Given the description of an element on the screen output the (x, y) to click on. 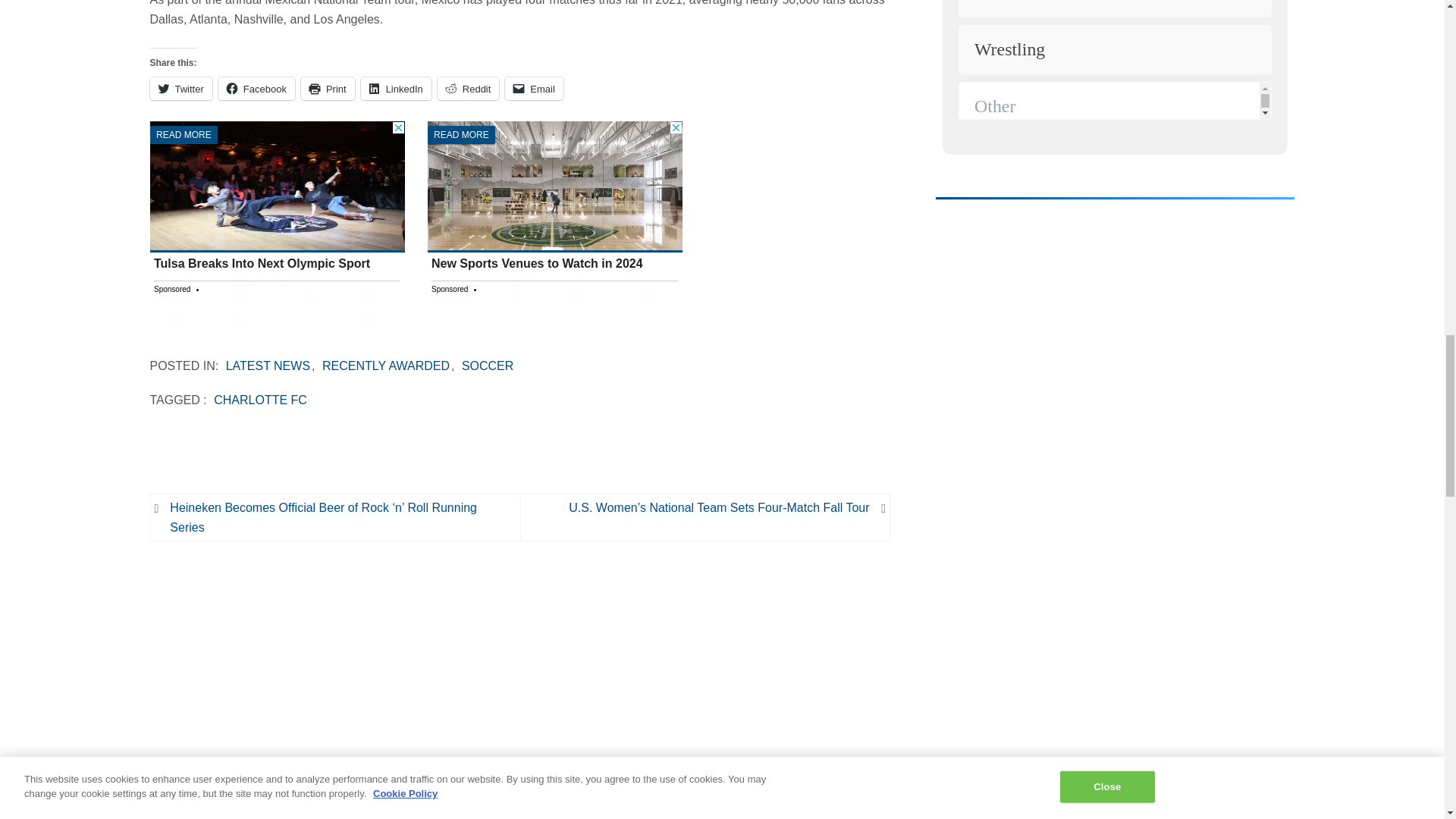
Click to share on LinkedIn (395, 87)
Click to email a link to a friend (534, 87)
3rd party ad content (276, 227)
Click to share on Twitter (180, 87)
3rd party ad content (1049, 753)
Click to share on Reddit (468, 87)
Interaction questions (1115, 80)
Click to share on Facebook (256, 87)
Click to print (328, 87)
3rd party ad content (555, 227)
3rd party ad content (1049, 437)
